Given the description of an element on the screen output the (x, y) to click on. 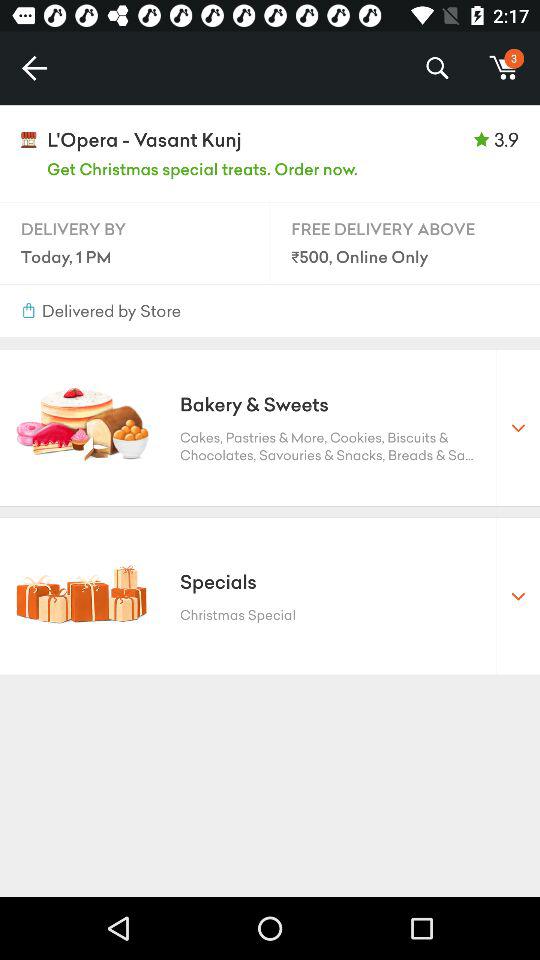
tap % icon (436, 67)
